Given the description of an element on the screen output the (x, y) to click on. 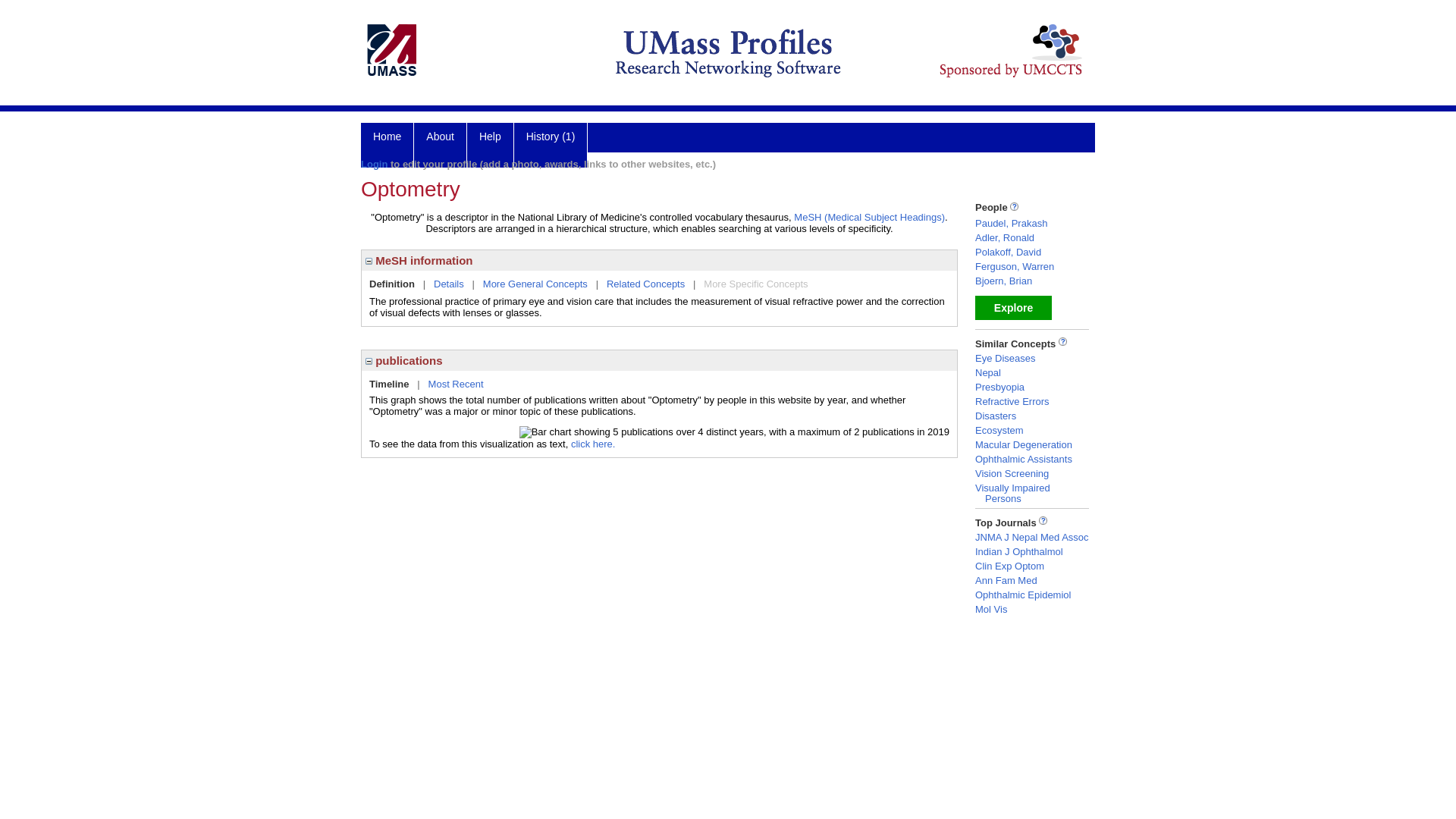
Related Concepts (645, 283)
Home (387, 144)
Login (374, 163)
More Specific Concepts (755, 283)
Help (490, 144)
About (440, 144)
Definition (391, 283)
More General Concepts (535, 283)
Details (448, 283)
